Given the description of an element on the screen output the (x, y) to click on. 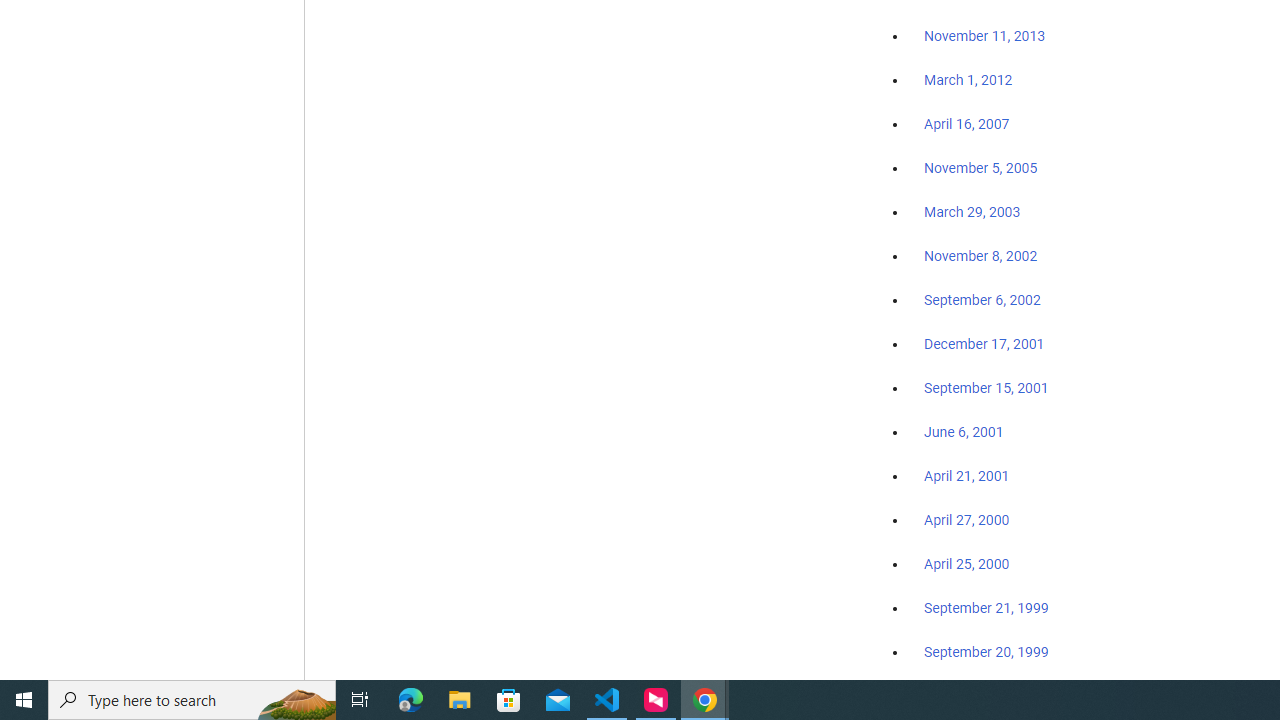
March 1, 2012 (968, 81)
April 16, 2007 (966, 124)
April 21, 2001 (966, 476)
September 6, 2002 (982, 299)
September 21, 1999 (986, 608)
December 17, 2001 (984, 343)
April 25, 2000 (966, 564)
April 27, 2000 (966, 520)
November 5, 2005 (981, 168)
September 20, 1999 (986, 651)
September 15, 2001 (986, 387)
November 11, 2013 (984, 37)
June 6, 2001 (963, 431)
November 8, 2002 (981, 255)
March 29, 2003 (972, 212)
